Given the description of an element on the screen output the (x, y) to click on. 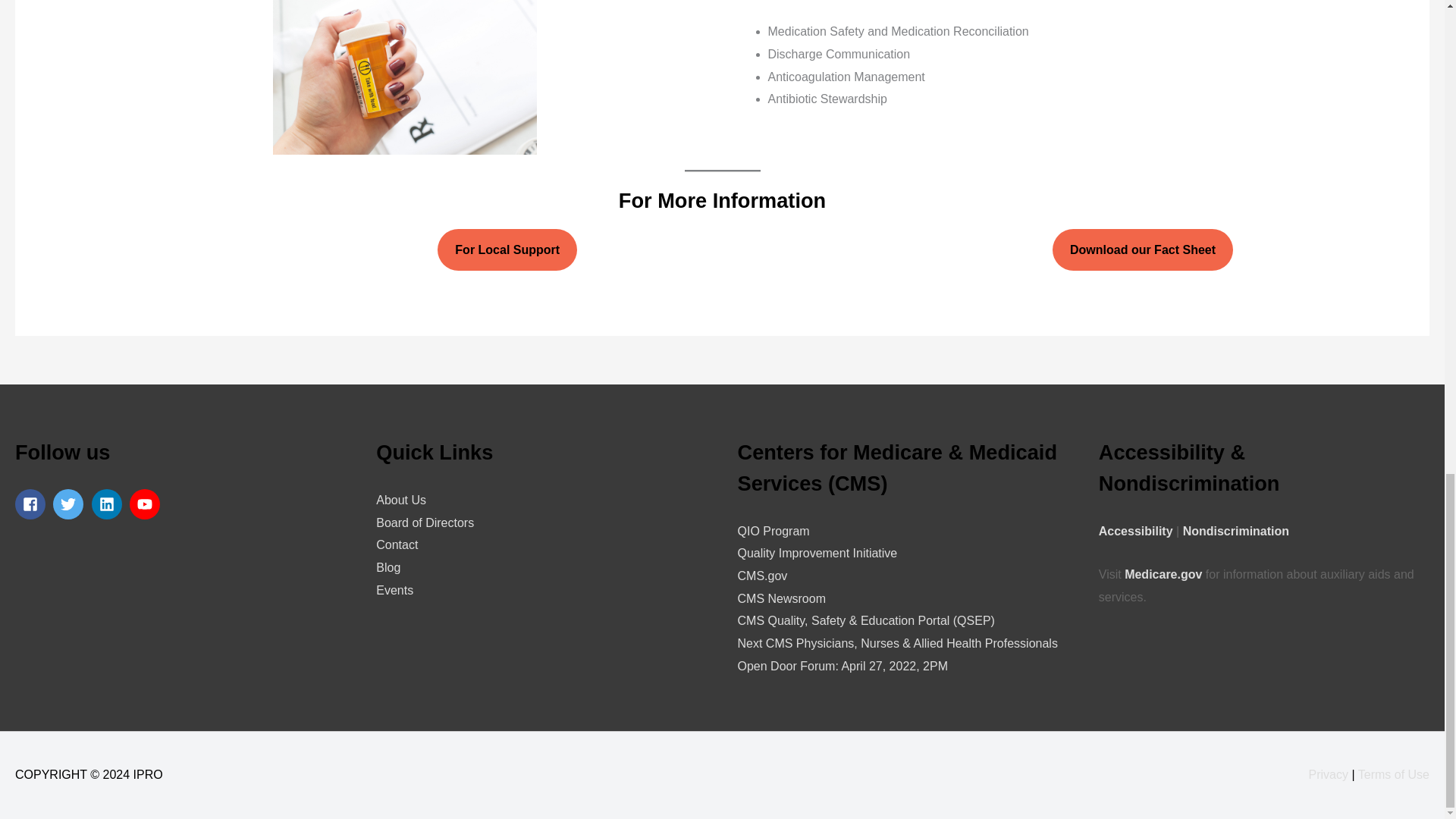
Contact (396, 544)
For Local Support (507, 250)
About Us (400, 499)
Board of Directors (424, 522)
Download our Fact Sheet (1142, 250)
